Given the description of an element on the screen output the (x, y) to click on. 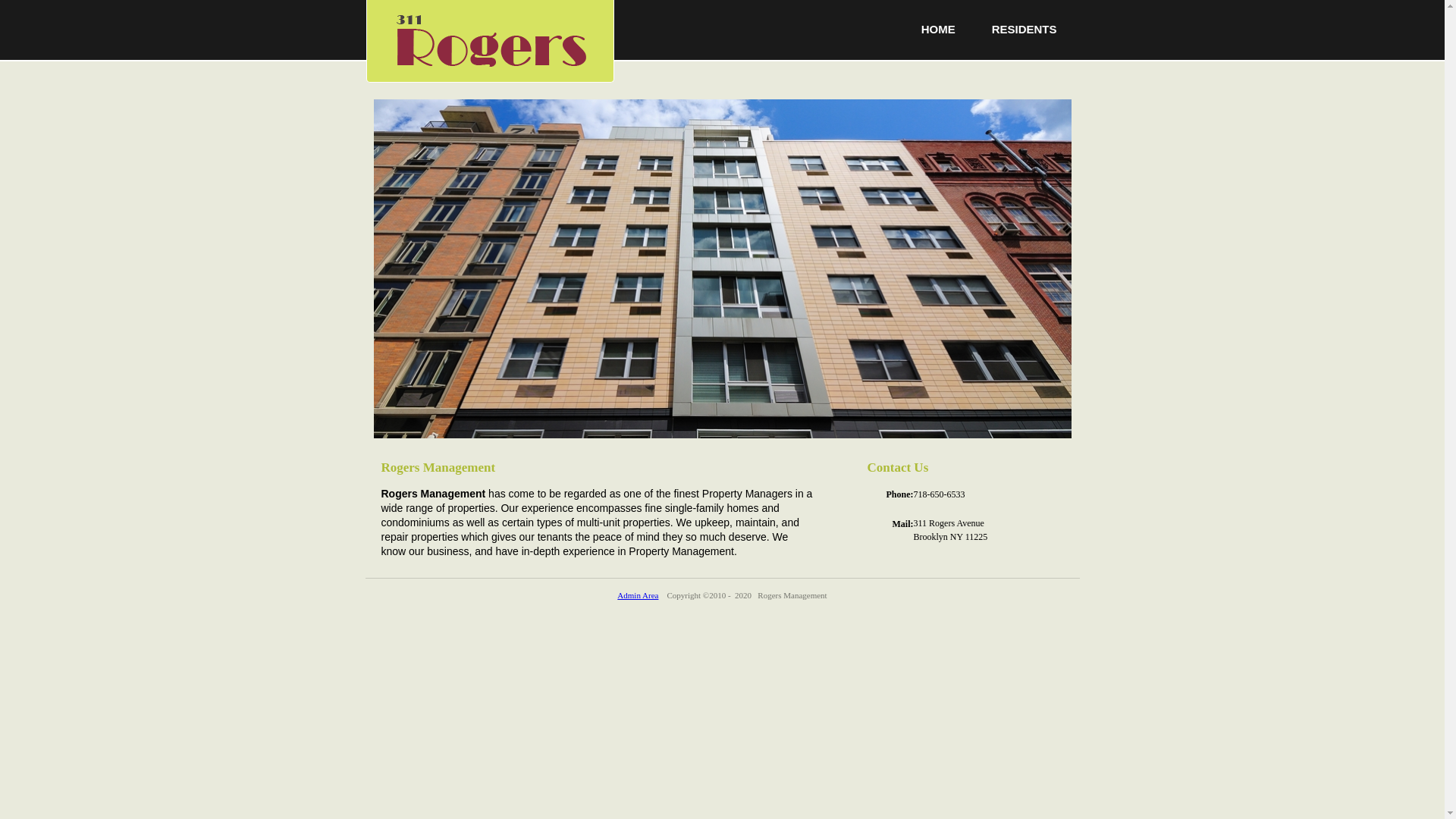
RESIDENTS Element type: text (1024, 28)
Admin Area Element type: text (637, 594)
HOME Element type: text (937, 28)
